Given the description of an element on the screen output the (x, y) to click on. 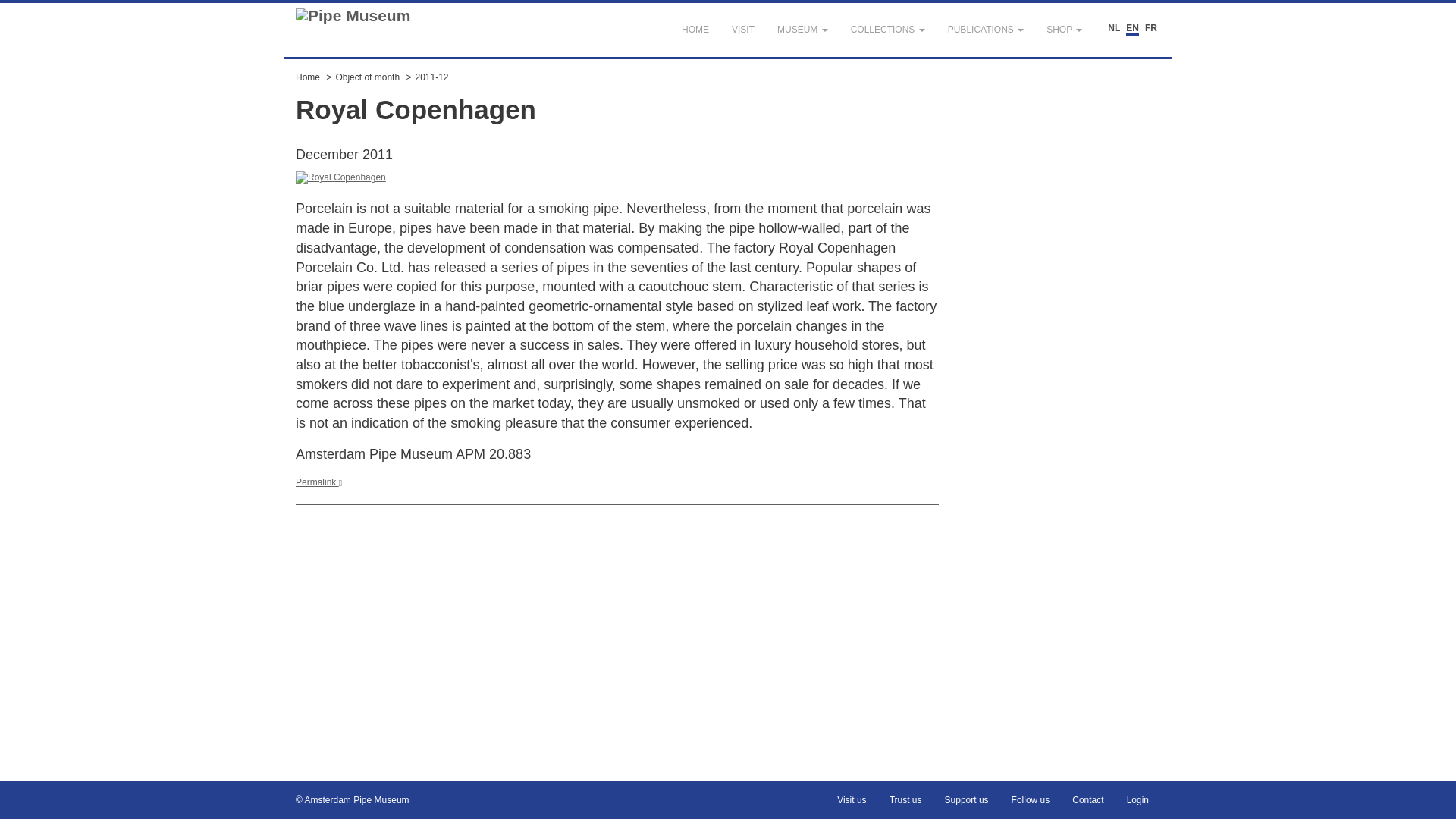
EN (1131, 29)
SHOP (1064, 29)
MUSEUM (802, 29)
COLLECTIONS (888, 29)
PUBLICATIONS (985, 29)
Home (307, 77)
EN (1131, 29)
HOME (694, 29)
FR (1150, 29)
NL (1113, 29)
Permalink (318, 481)
2011-12 (431, 77)
APM 20.883 (493, 453)
Object of month (366, 77)
FR (1150, 29)
